Given the description of an element on the screen output the (x, y) to click on. 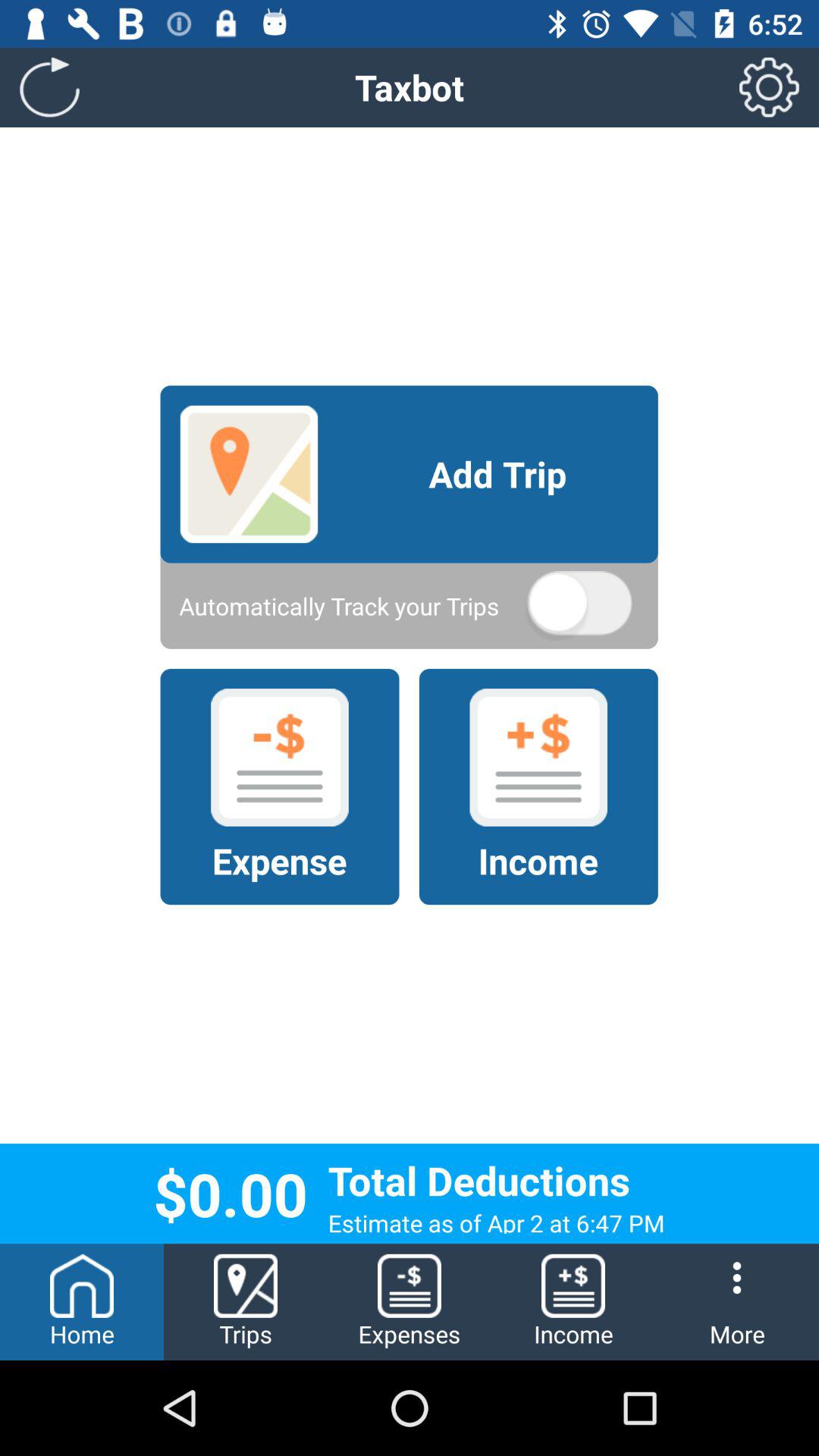
turn off the app next to taxbot icon (49, 87)
